Given the description of an element on the screen output the (x, y) to click on. 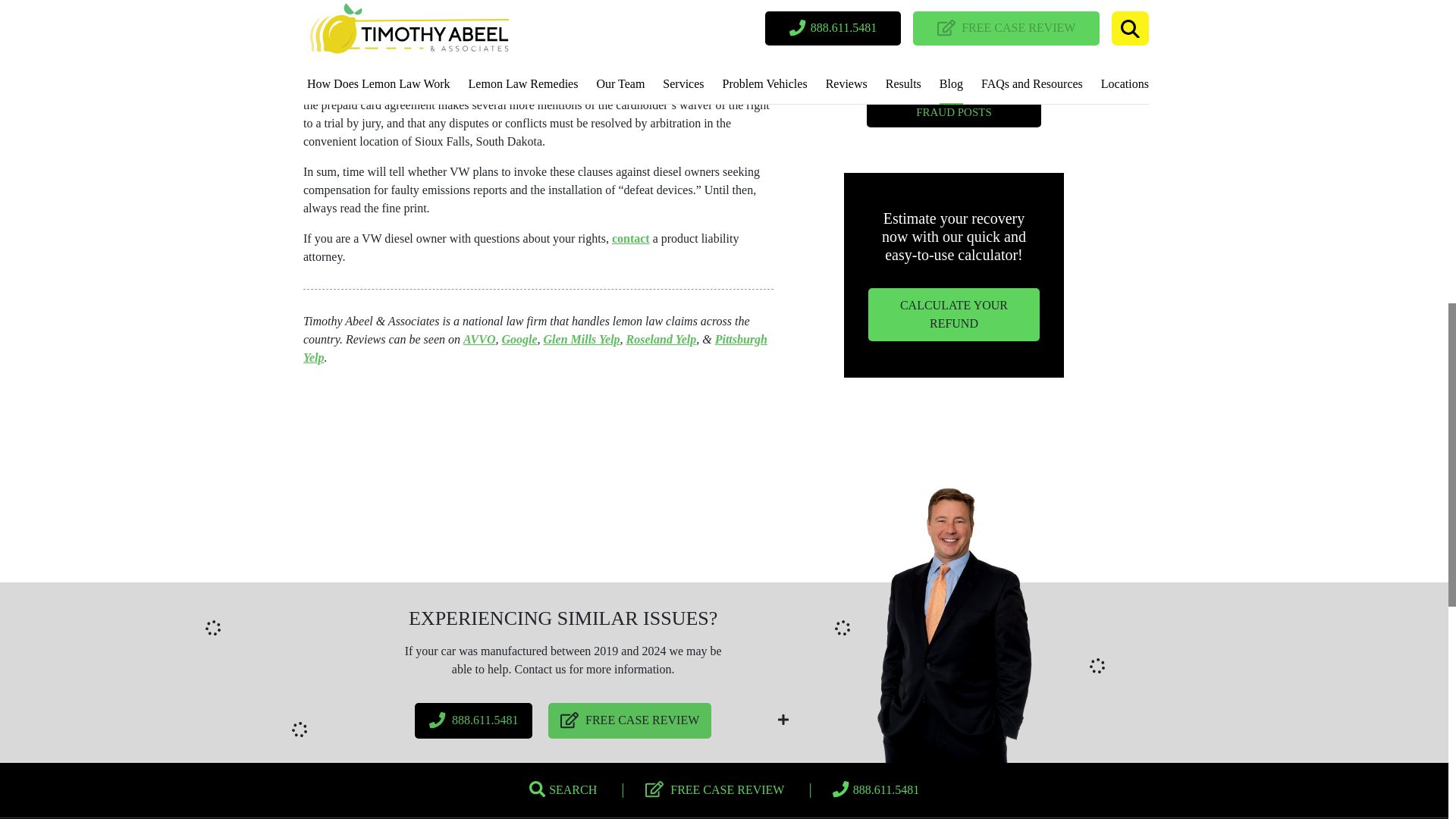
Search (562, 789)
